Given the description of an element on the screen output the (x, y) to click on. 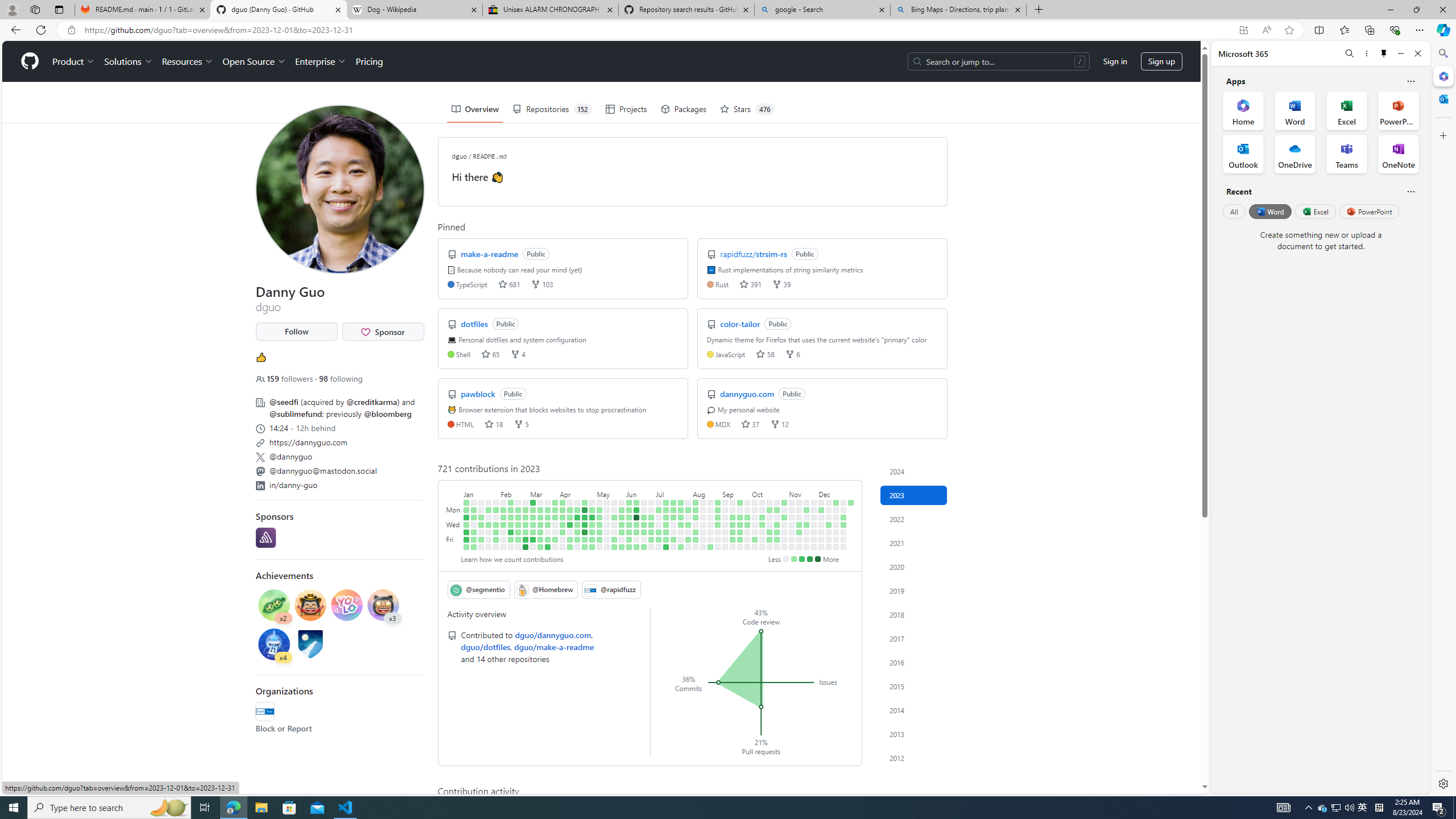
1 contribution on March 14th. (540, 517)
No contributions on May 16th. (607, 517)
No contributions on August 18th. (703, 539)
No contributions on November 7th. (791, 517)
View dguo's full-sized avatar (338, 188)
1 contribution on February 28th. (525, 517)
Achievement: Pull Shark (273, 644)
forks 39 (780, 283)
1 contribution on June 28th. (651, 524)
No contributions on December 7th. (821, 531)
Achievement: Starstruck x3 (382, 606)
No contributions on September 4th. (725, 509)
No contributions on July 2nd. (658, 502)
@creditkarma (371, 401)
